Given the description of an element on the screen output the (x, y) to click on. 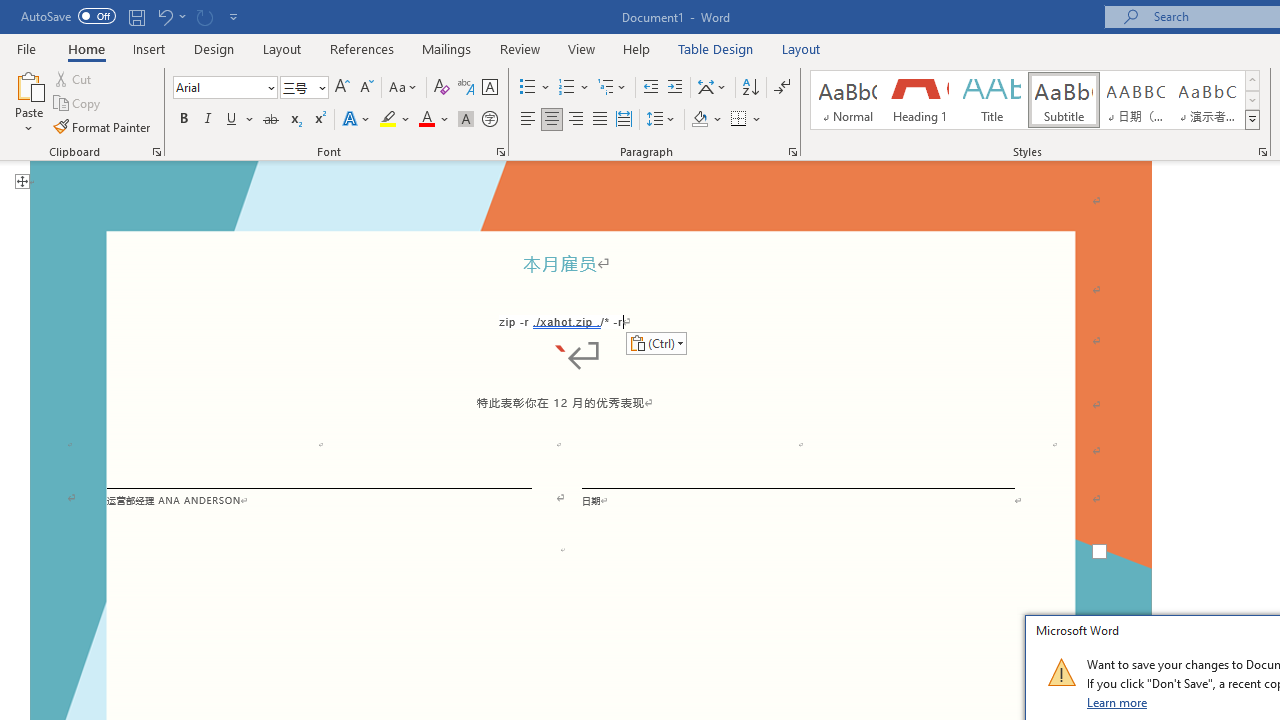
Action: Paste alternatives (656, 342)
